Given the description of an element on the screen output the (x, y) to click on. 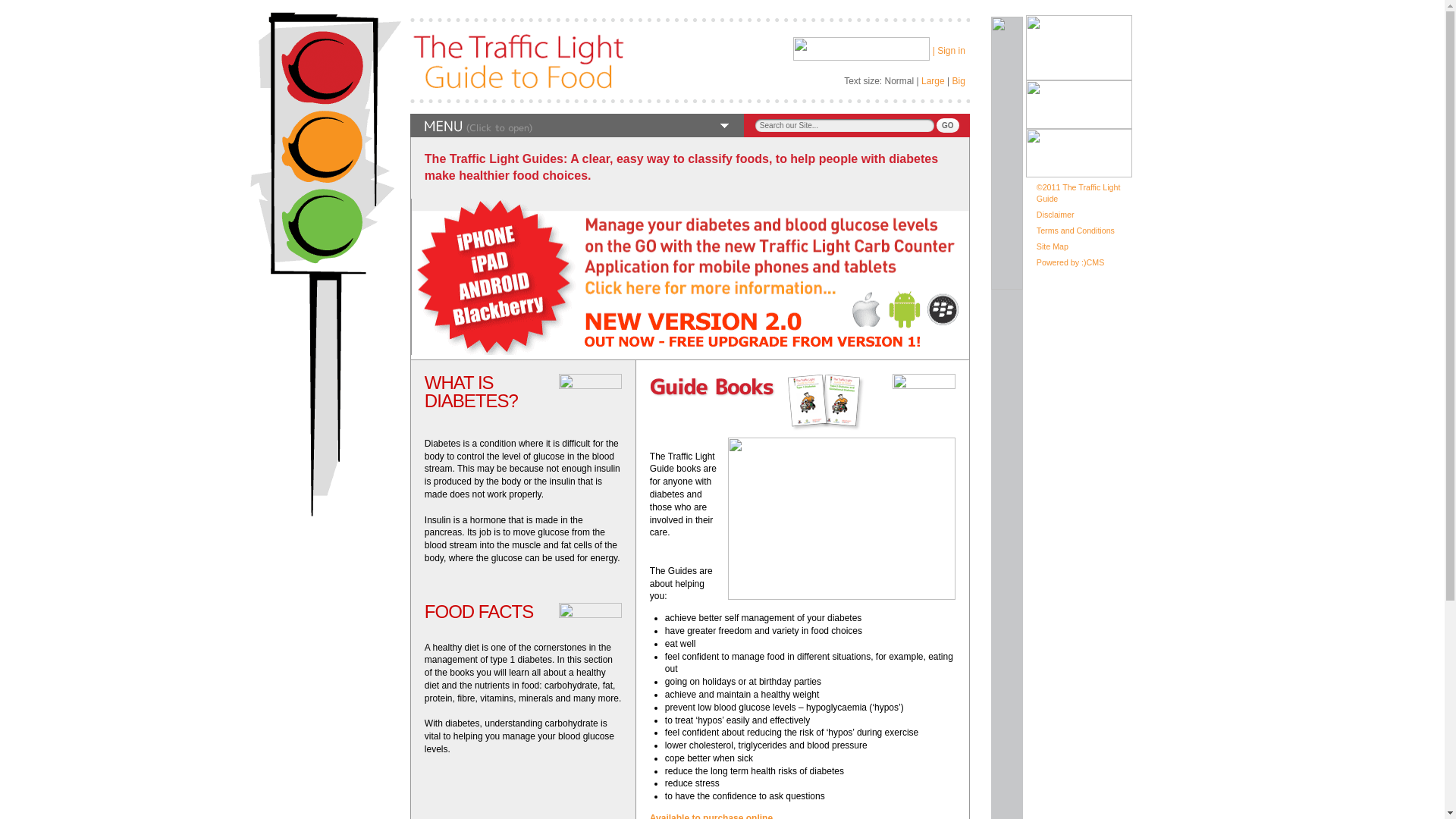
GO (947, 124)
Site Map (1052, 245)
Sign in (951, 50)
GO (947, 124)
Terms and Conditions (1075, 230)
Search our Site... (844, 124)
Available to purchase online. (712, 816)
Search our Site... (844, 124)
GO (947, 124)
Disclaimer (1055, 214)
Large (932, 81)
Big (958, 81)
